Given the description of an element on the screen output the (x, y) to click on. 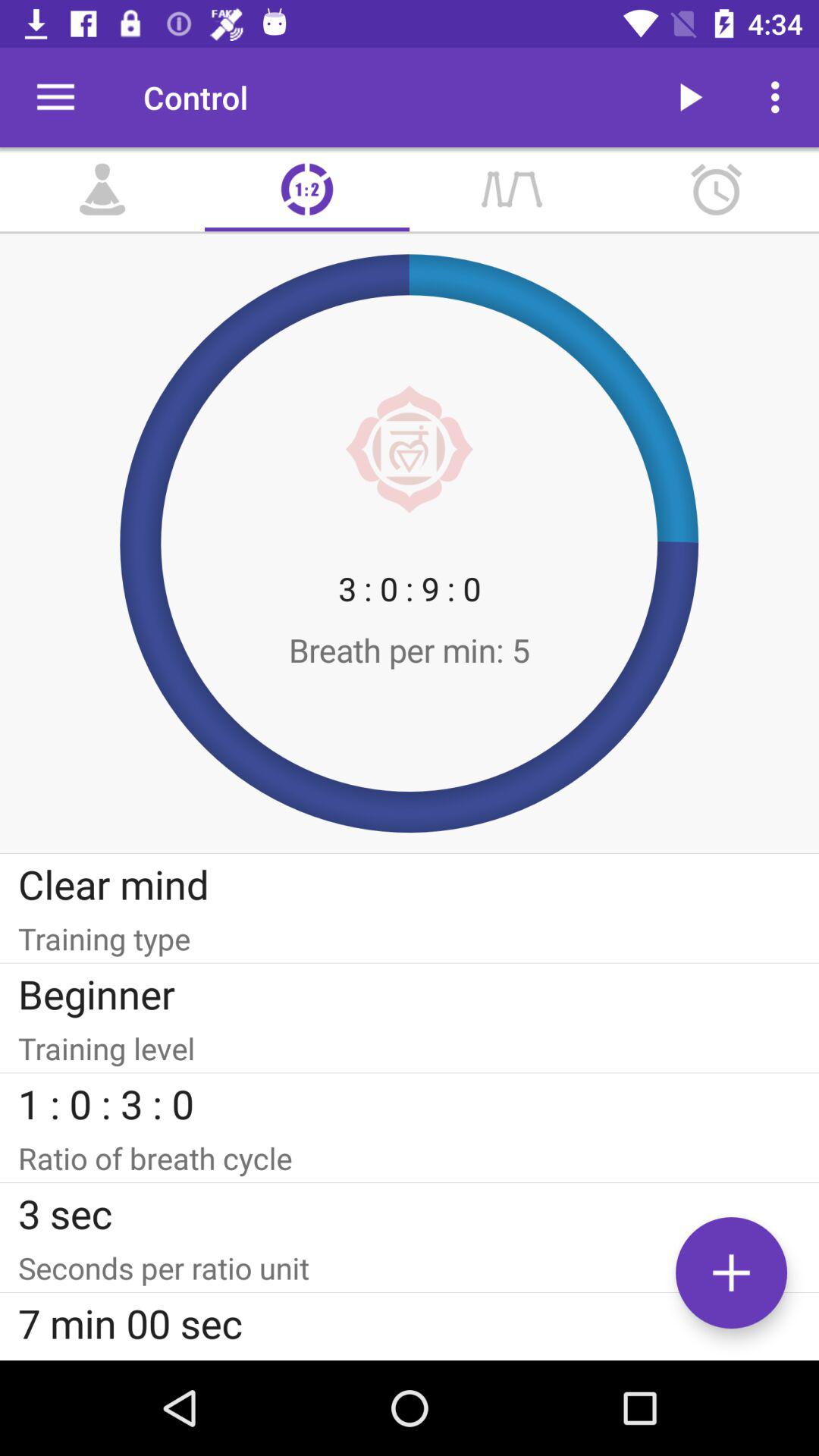
open icon above ratio of breath icon (409, 1103)
